Given the description of an element on the screen output the (x, y) to click on. 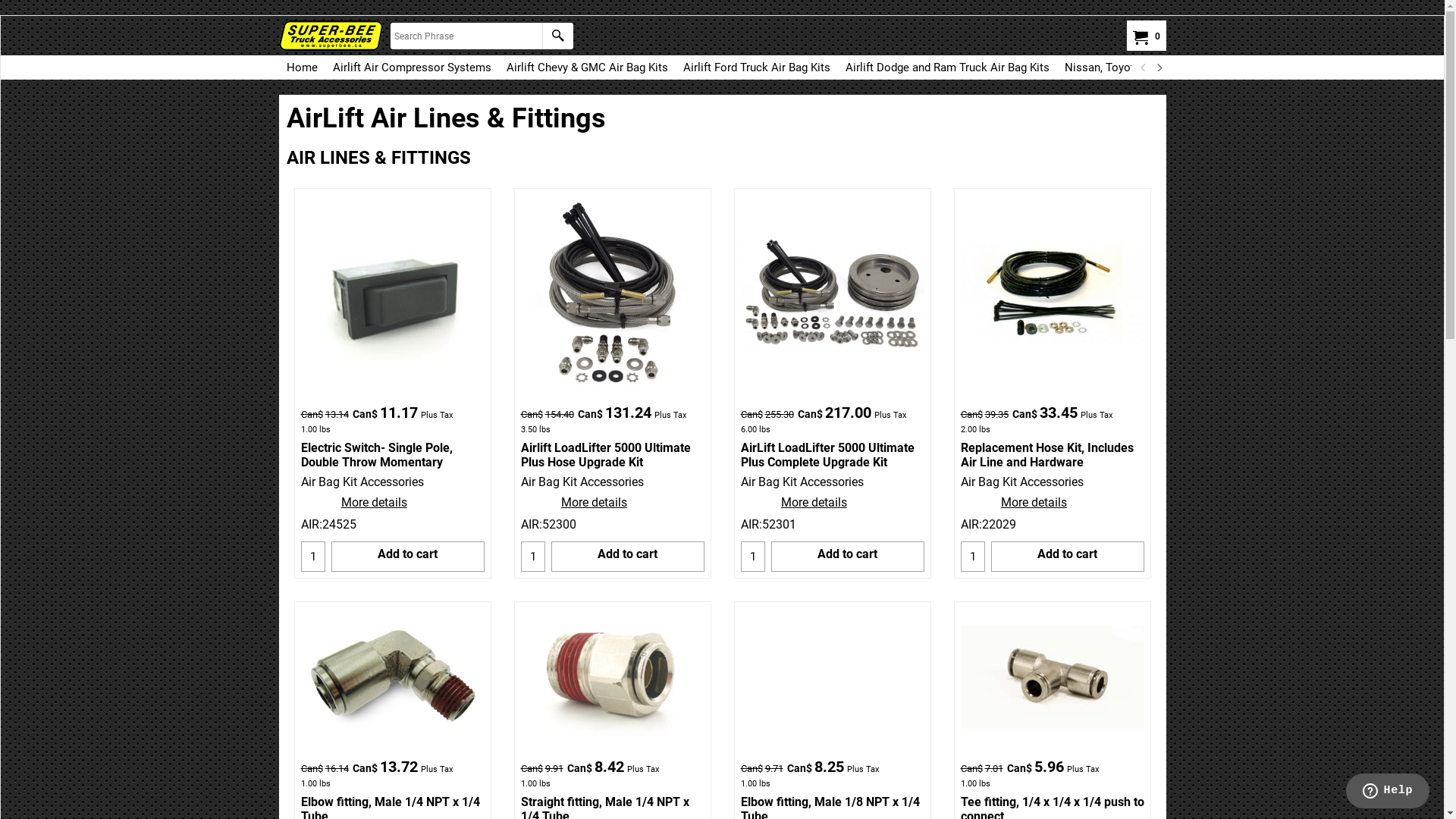
Airlift LoadLifter 5000 Ultimate Plus Upgrade Kit Element type: hover (612, 293)
Airlift Chevy & GMC Air Bag Kits Element type: text (586, 67)
1 Element type: text (972, 555)
Tee fitting - 1/4 x 1/4 x 1/4 push to connect Element type: hover (1051, 676)
Airlift Air Compressor Systems Element type: text (411, 67)
More details Element type: text (373, 501)
Find Element type: hover (556, 35)
Add to cart Element type: text (1067, 555)
Replacement Hose Kit; Incl. Air Line; Hardware Element type: hover (1051, 293)
1 Element type: text (752, 555)
Add to cart Element type: text (627, 555)
Add to cart Element type: text (847, 555)
Nissan, Toyota, Kia, Hyundai AirLift Air Bag Kits Element type: text (1184, 67)
1 Element type: text (532, 555)
Opens a widget where you can chat to one of our agents Element type: hover (1387, 792)
Airlift Dodge and Ram Truck Air Bag Kits Element type: text (946, 67)
More details Element type: text (593, 501)
0 Element type: text (1143, 36)
Elbow- Male 1/4 NPT x 1/4 Tube Element type: hover (391, 677)
More details Element type: text (1033, 501)
Add to cart Element type: text (407, 555)
Electric Switch- Single Pole, Double Throw Momentary Element type: hover (391, 293)
Home Element type: text (302, 67)
AirLift LoadLifter 5000 Ultimate Plus Upgrade Kit Element type: hover (831, 293)
1 Element type: text (312, 555)
Airlift Ford Truck Air Bag Kits Element type: text (755, 67)
More details Element type: text (813, 501)
Straight- Male 1/4 NPT x 1/4 Tube Element type: hover (611, 677)
AirBagKits.ca Element type: hover (330, 35)
